Given the description of an element on the screen output the (x, y) to click on. 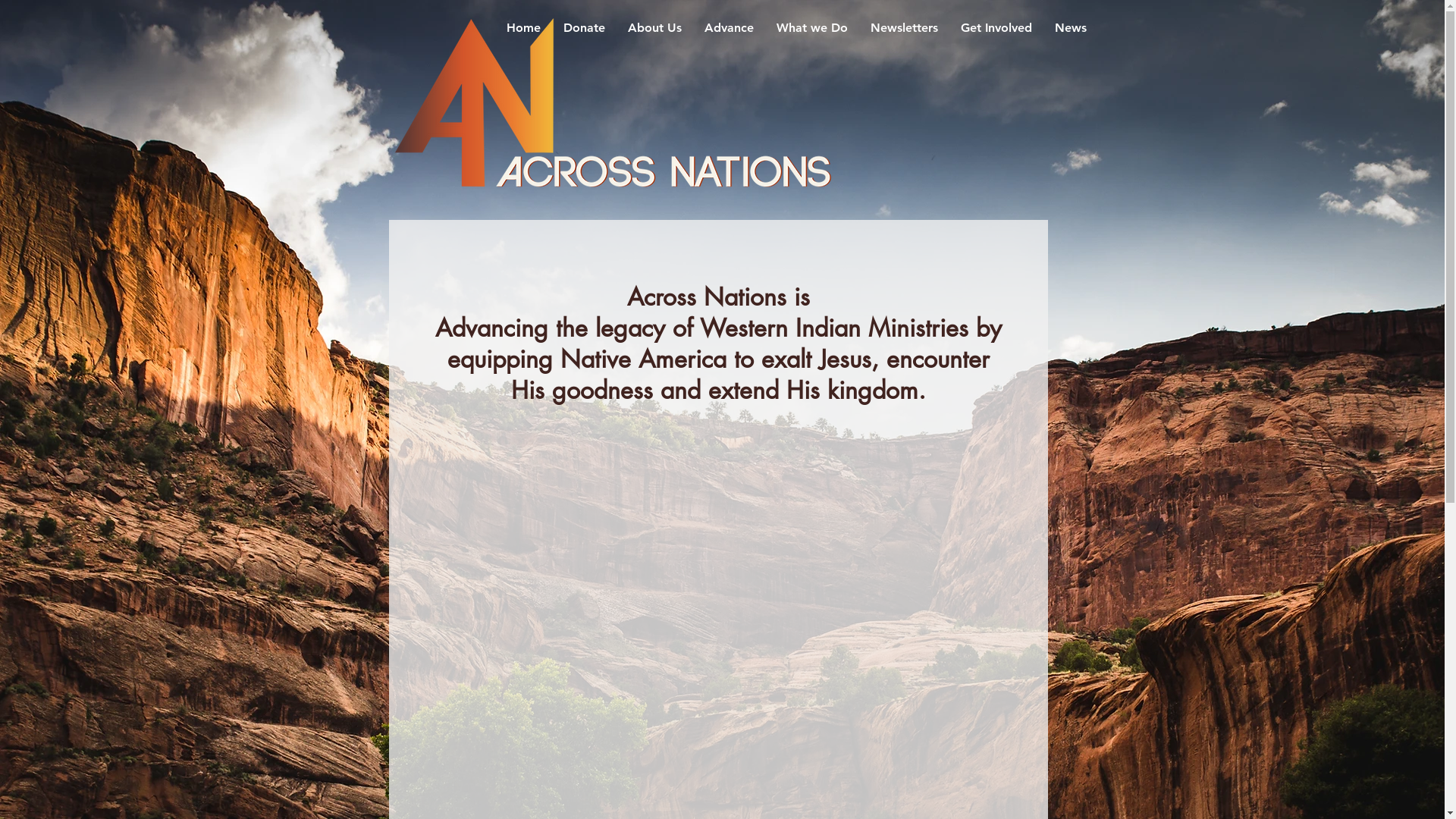
External Vimeo Element type: hover (713, 617)
What we Do Element type: text (811, 28)
Donate Element type: text (584, 28)
Advance Element type: text (729, 28)
About Us Element type: text (653, 28)
Get Involved Element type: text (996, 28)
Home Element type: text (522, 28)
News Element type: text (1070, 28)
Newsletters Element type: text (903, 28)
